Given the description of an element on the screen output the (x, y) to click on. 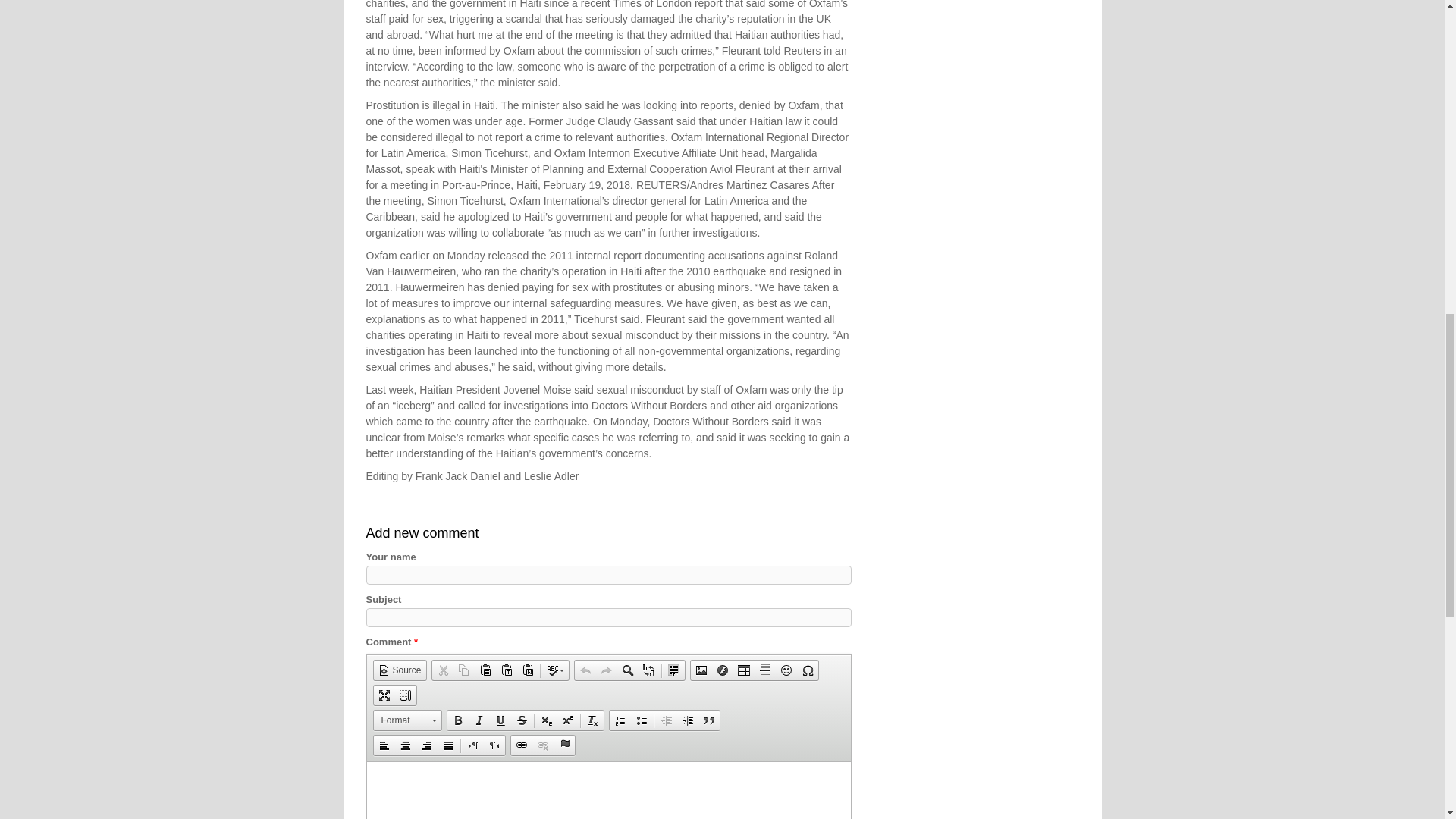
Image (700, 670)
Spell Checker (555, 670)
Source (398, 670)
Paste from Word (527, 670)
Insert Horizontal Line (765, 670)
Undo (585, 670)
Cut (442, 670)
Table (743, 670)
